Given the description of an element on the screen output the (x, y) to click on. 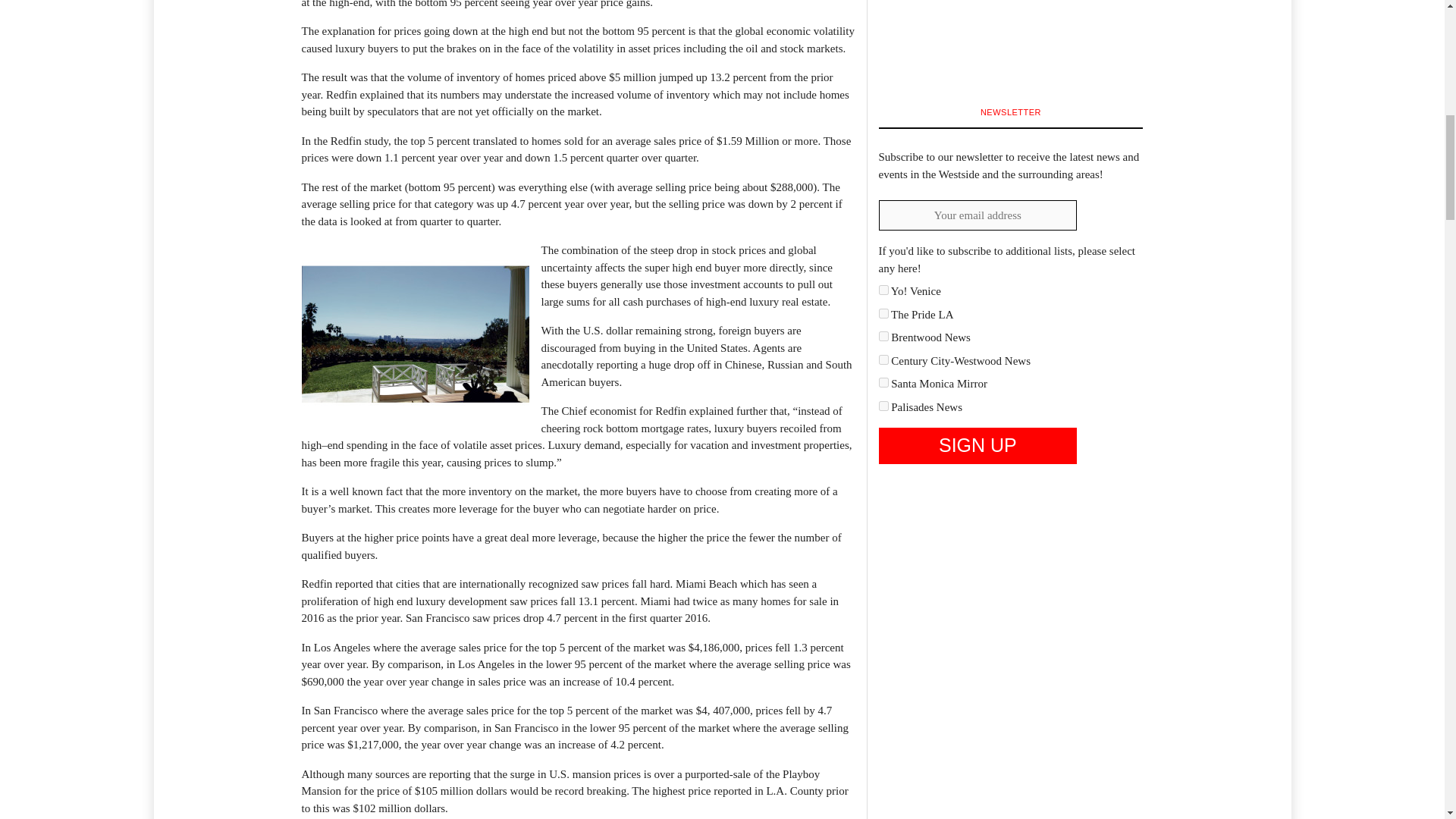
Sign up (977, 445)
382281a661 (882, 336)
2c616d28b5 (882, 289)
33f79e7e4d (882, 313)
5fac618226 (882, 359)
d0b5733862 (882, 382)
ec7d882848 (882, 406)
